Given the description of an element on the screen output the (x, y) to click on. 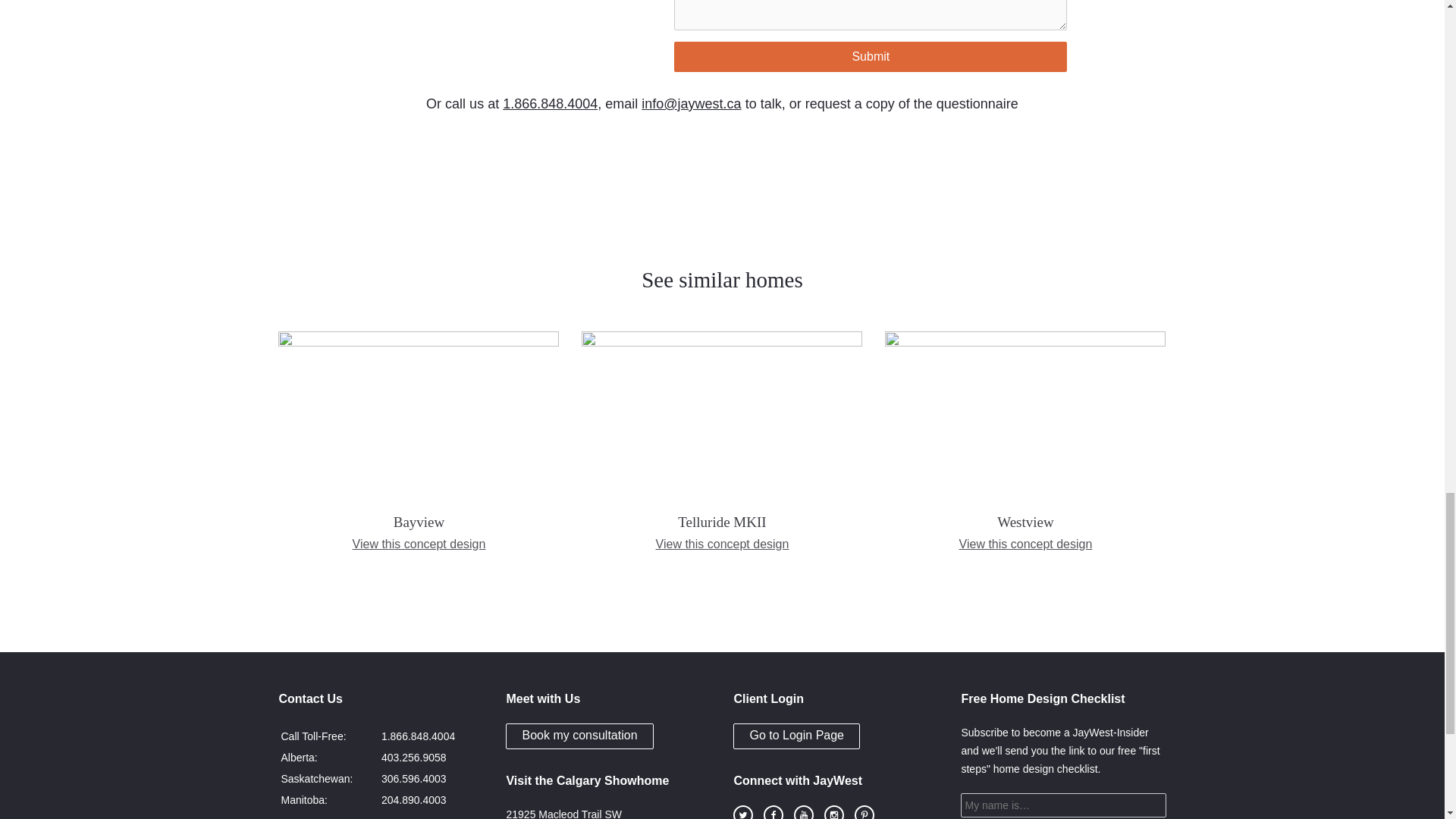
Submit (870, 56)
